Given the description of an element on the screen output the (x, y) to click on. 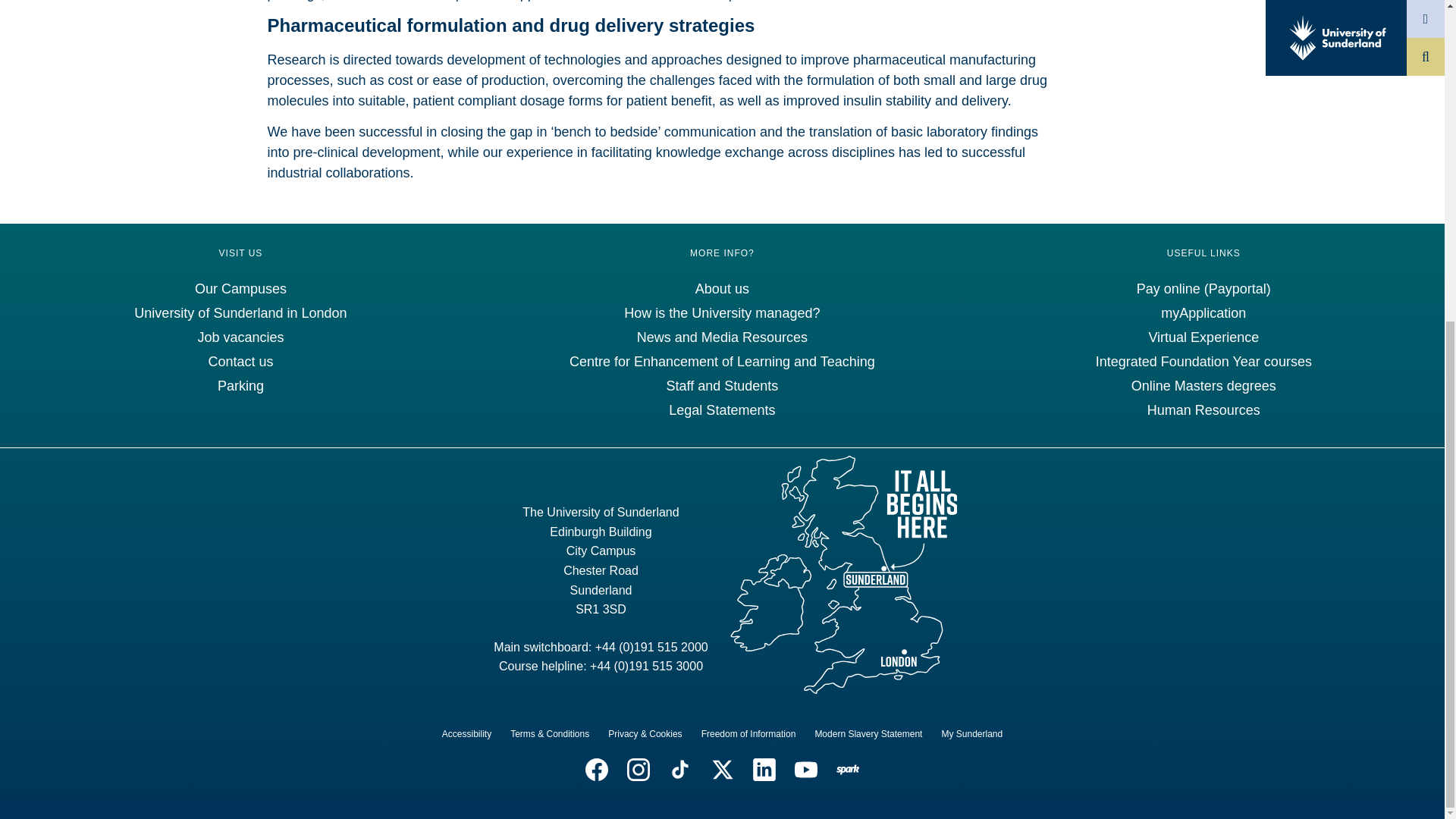
Visit the Human Resources website (1203, 409)
Visit the Online Masters website (1203, 385)
Manage your Application (1203, 313)
Job vacancies at Sunderland (239, 337)
Pay online (1204, 288)
Staff and Students Portal (721, 385)
